Given the description of an element on the screen output the (x, y) to click on. 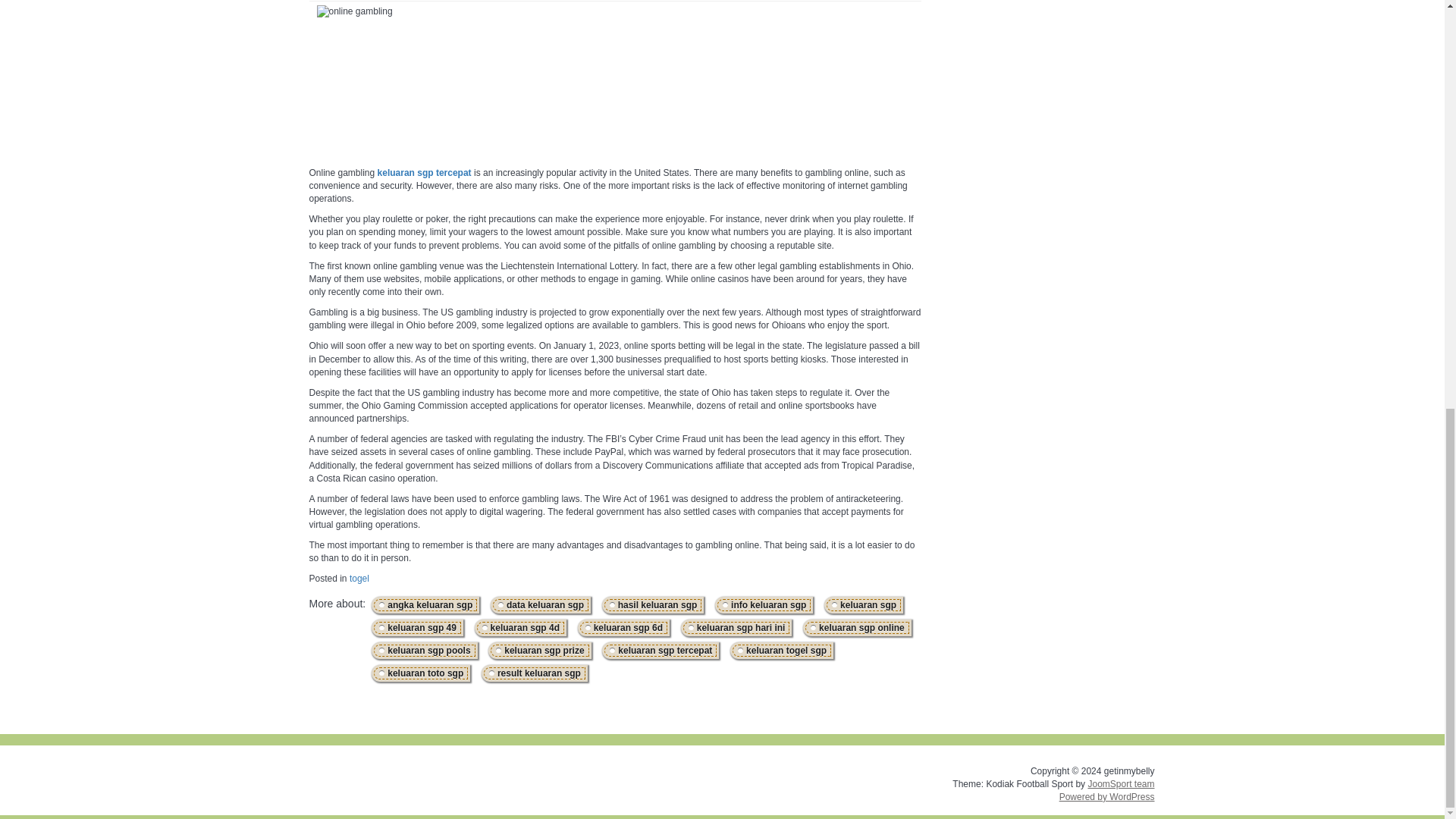
keluaran sgp tercepat (424, 172)
data keluaran sgp (540, 604)
 The Best WordPress Sport Plugin for your league and club  (1120, 783)
angka keluaran sgp (425, 604)
info keluaran sgp (763, 604)
hasil keluaran sgp (652, 604)
togel (359, 578)
